Given the description of an element on the screen output the (x, y) to click on. 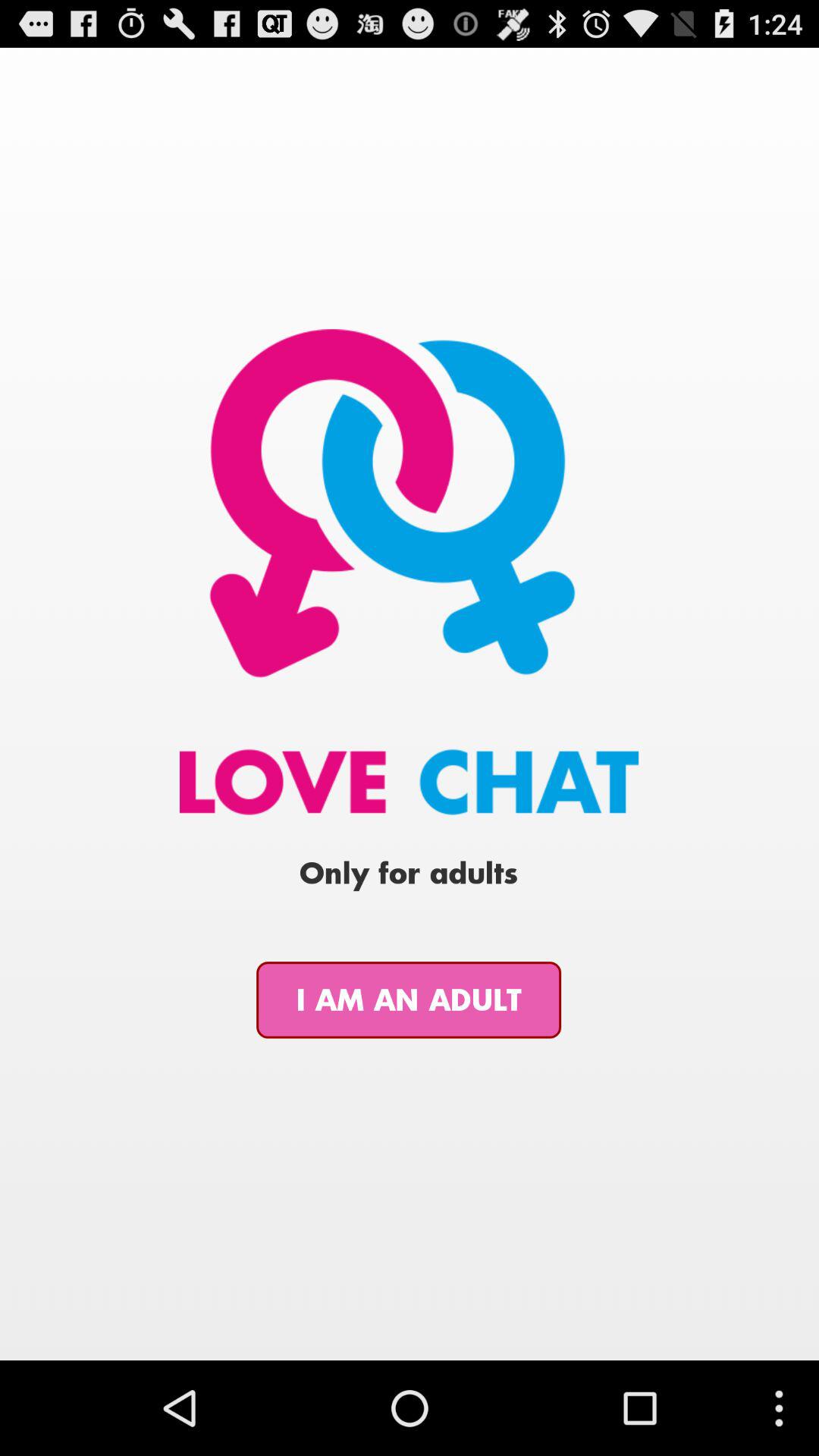
turn on the item below only for adults item (408, 999)
